Given the description of an element on the screen output the (x, y) to click on. 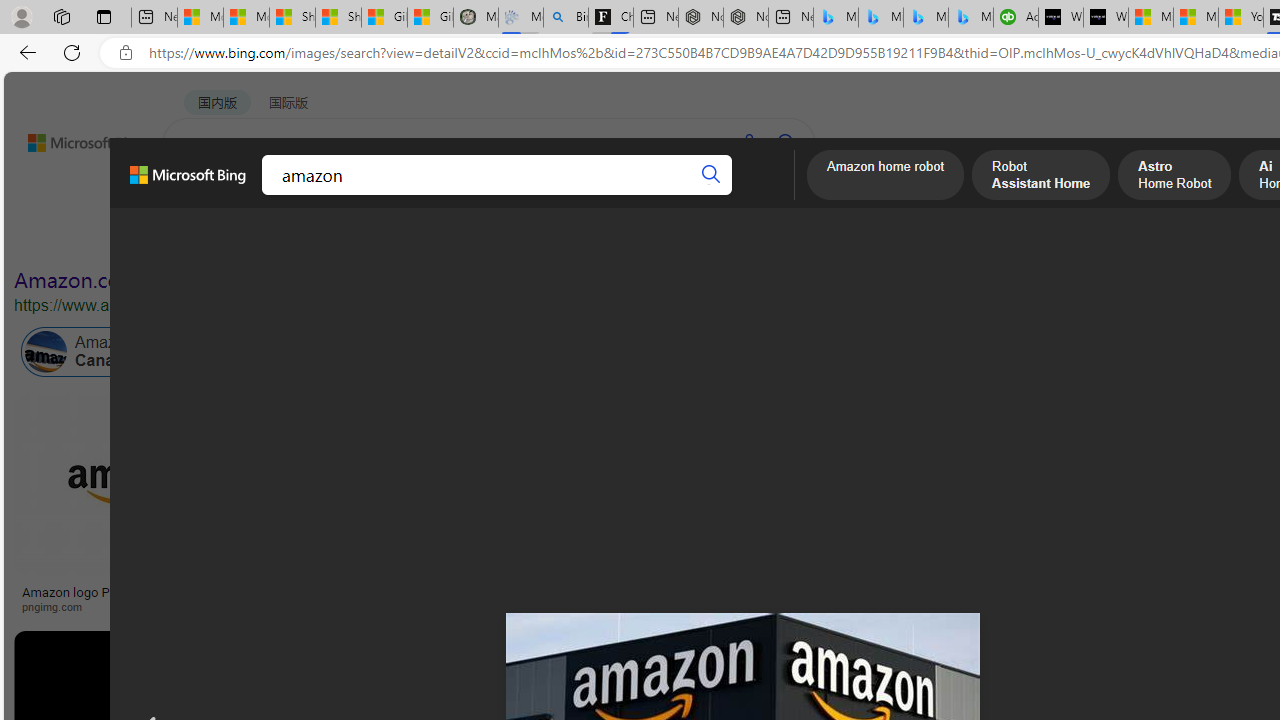
Back (24, 52)
Image result for amazon (923, 675)
Amazon home robot (885, 177)
Listen: What's next for Amazon? (710, 592)
Color (305, 237)
People (521, 237)
Color (305, 237)
aiophotoz.com (983, 606)
Refresh (72, 52)
aiophotoz.com (941, 605)
Amazon Animals (749, 351)
Chloe Sorvino (610, 17)
